Given the description of an element on the screen output the (x, y) to click on. 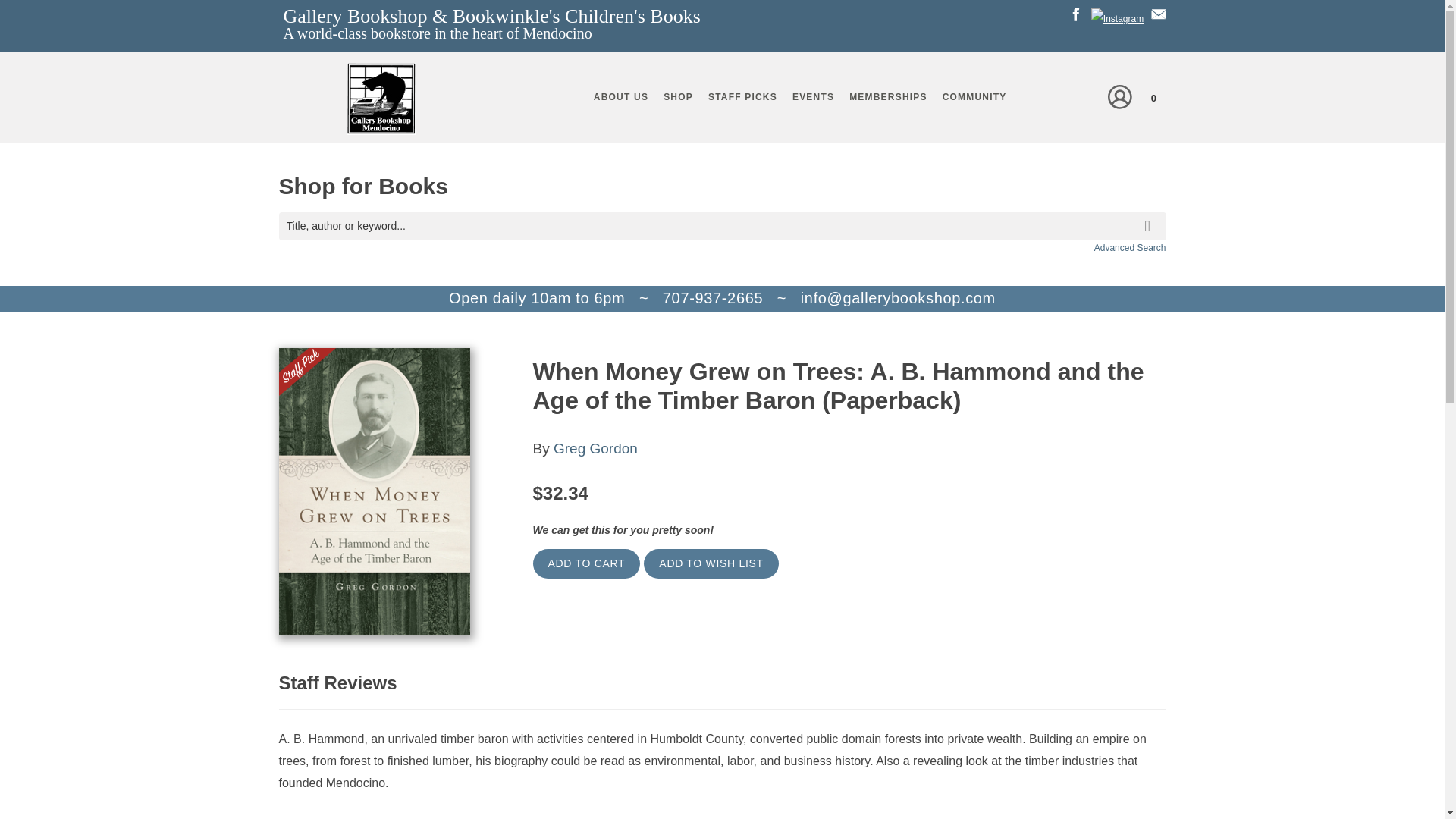
search (1150, 214)
Add to Cart (586, 563)
Add to Wish List (710, 563)
Title, author or keyword... (722, 226)
STAFF PICKS (742, 96)
search (1150, 214)
SHOP (678, 96)
COMMUNITY (974, 96)
EVENTS (812, 96)
MEMBERSHIPS (887, 96)
Home (380, 101)
ABOUT US (621, 96)
Advanced Search (1130, 247)
